Given the description of an element on the screen output the (x, y) to click on. 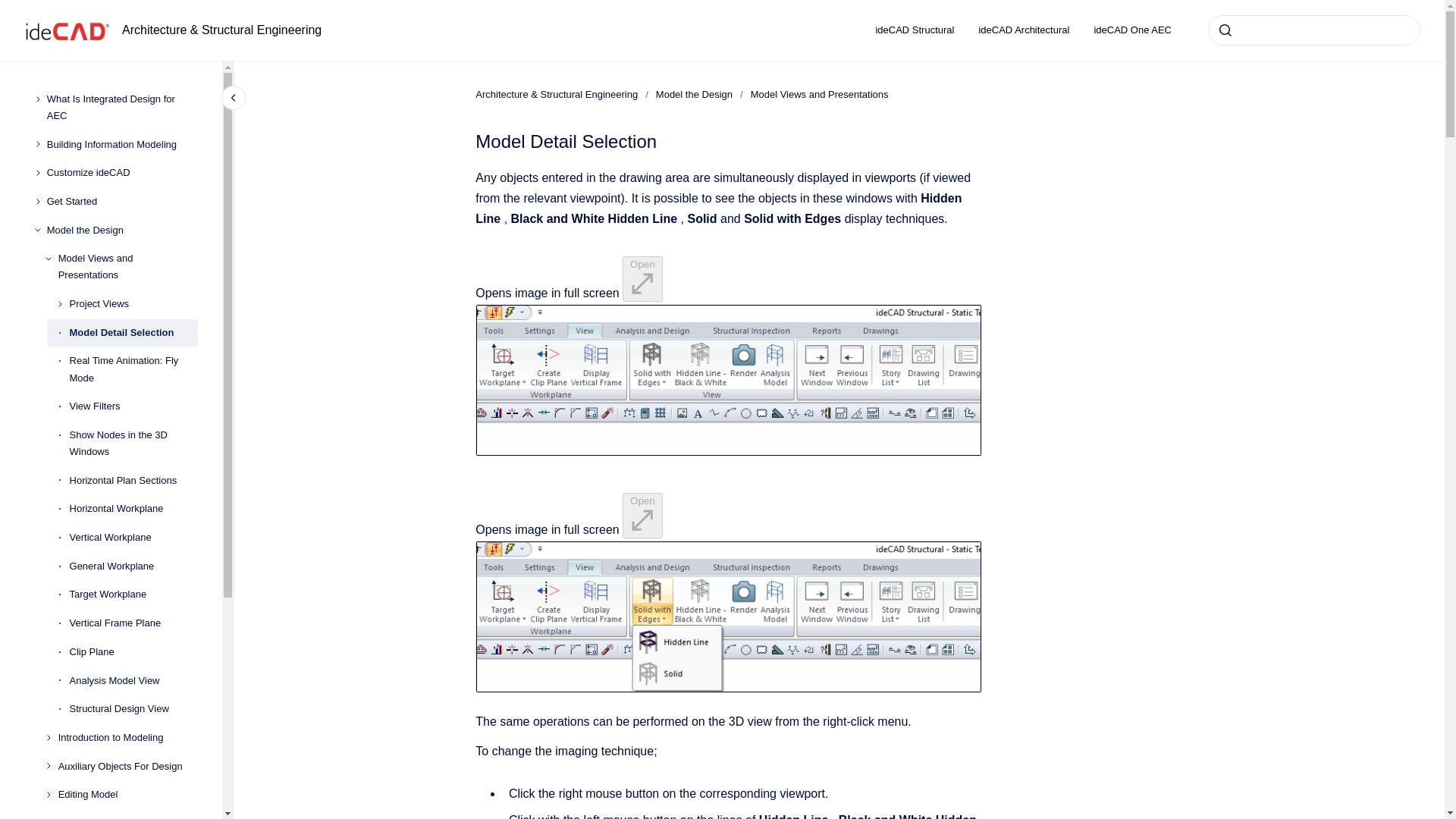
ideCAD Architectural (1023, 29)
ideCAD One AEC (1132, 29)
Clip Plane (133, 651)
Project Views (133, 303)
Structural Design View (133, 708)
General Workplane (133, 565)
Auxiliary Objects For Design (128, 766)
ideCAD Structural (914, 29)
Real Time Animation: Fly Mode (133, 370)
View Filters (133, 406)
